Given the description of an element on the screen output the (x, y) to click on. 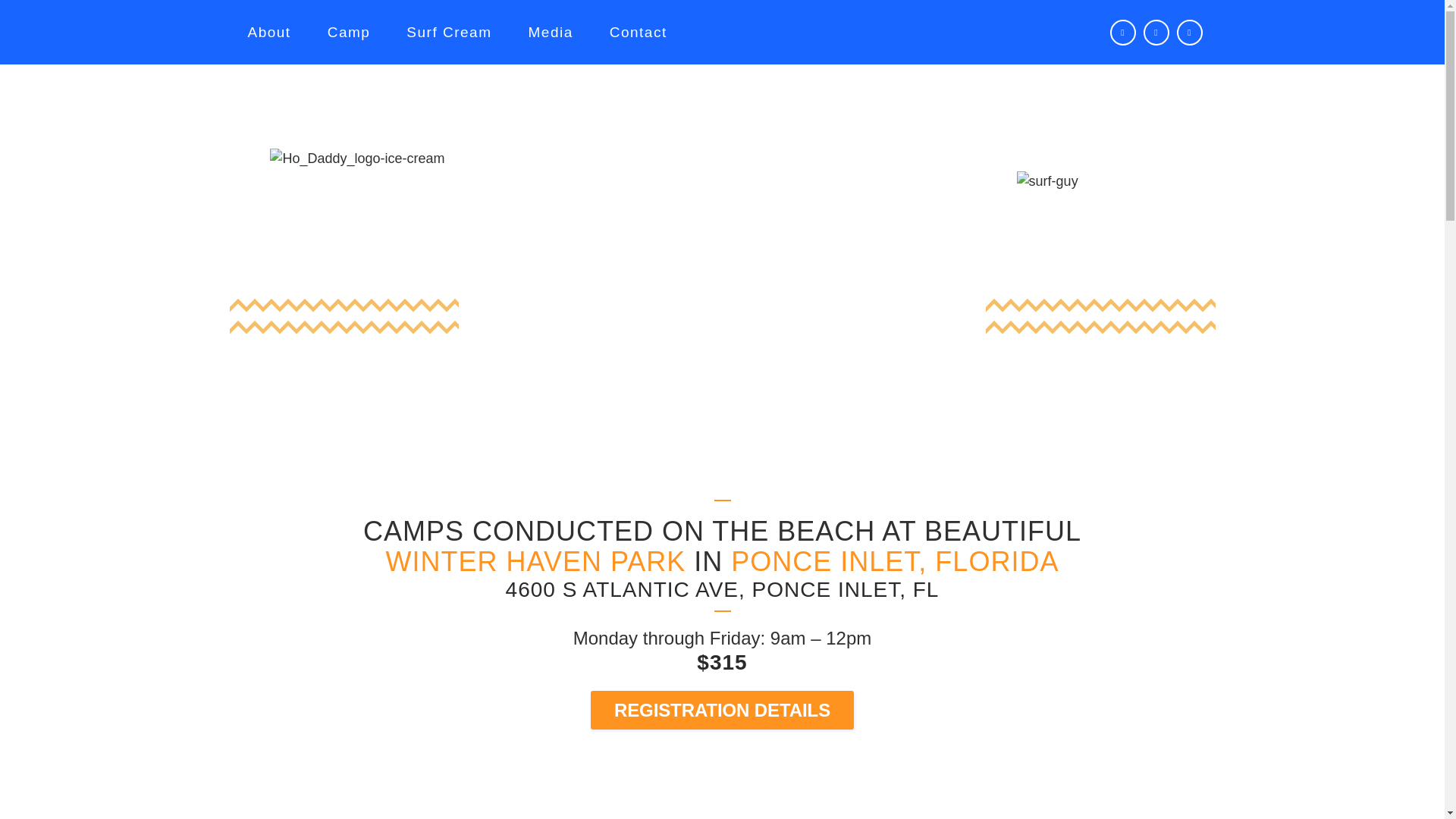
Media (550, 32)
About (268, 32)
Camp (348, 32)
REGISTRATION DETAILS (722, 710)
Ho Daddy O's Surf Camp (721, 356)
Surf Cream (448, 32)
Contact (638, 32)
surf-guy (1047, 180)
